Given the description of an element on the screen output the (x, y) to click on. 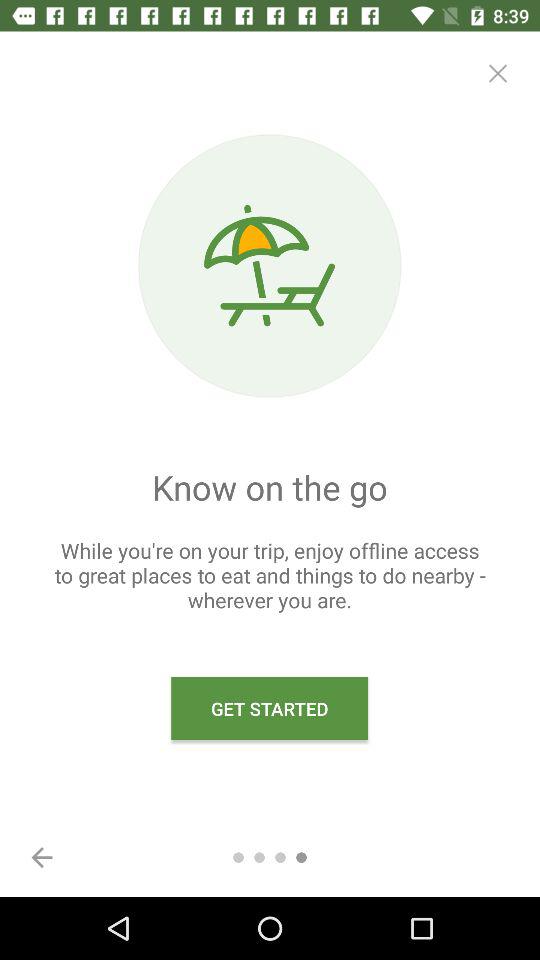
select the icon below while you re icon (42, 857)
